Given the description of an element on the screen output the (x, y) to click on. 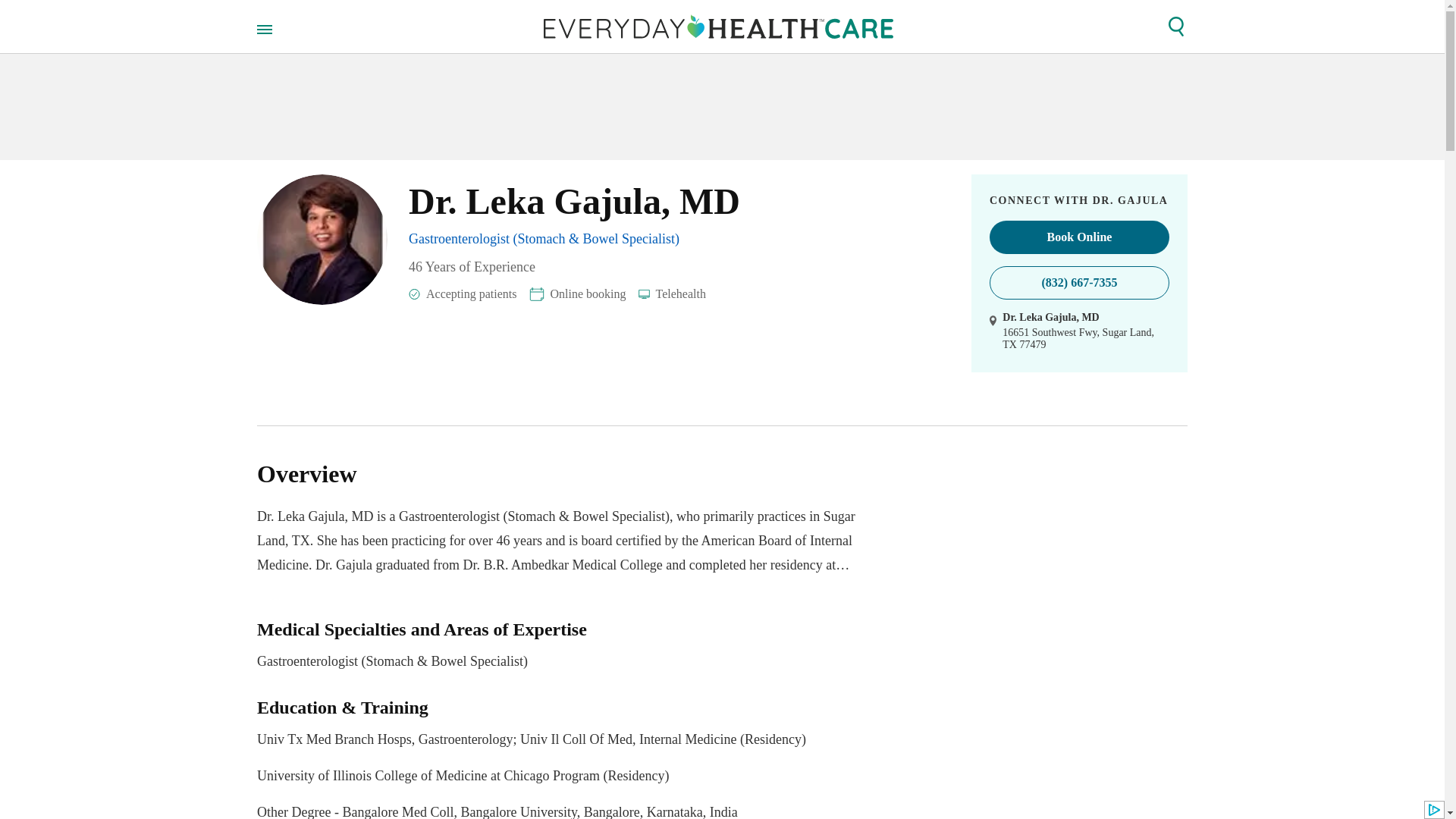
Book Online (1079, 236)
